Given the description of an element on the screen output the (x, y) to click on. 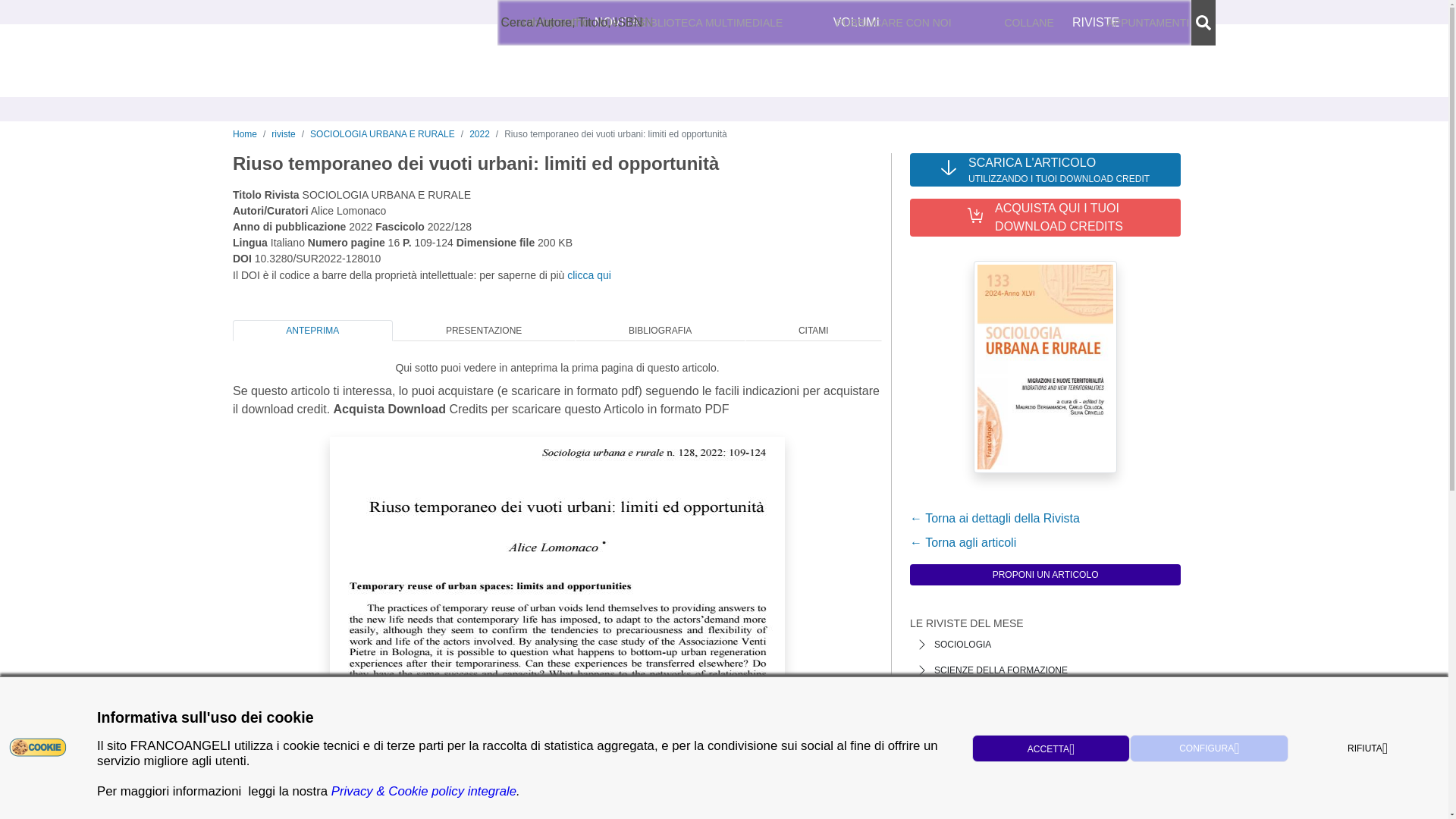
APPUNTAMENTI (1147, 22)
chi siamo (525, 23)
ENG (919, 22)
Carrello (1170, 22)
contatti (577, 23)
PUBBLICARE CON NOI (892, 22)
Ricerca Avanzata (567, 22)
COLLANE (1029, 22)
aiuto (619, 23)
Accedi (997, 22)
BIBLIOTECA MULTIMEDIALE (711, 22)
Preferiti (1082, 22)
CookieMan BY ML informatica (37, 746)
